Given the description of an element on the screen output the (x, y) to click on. 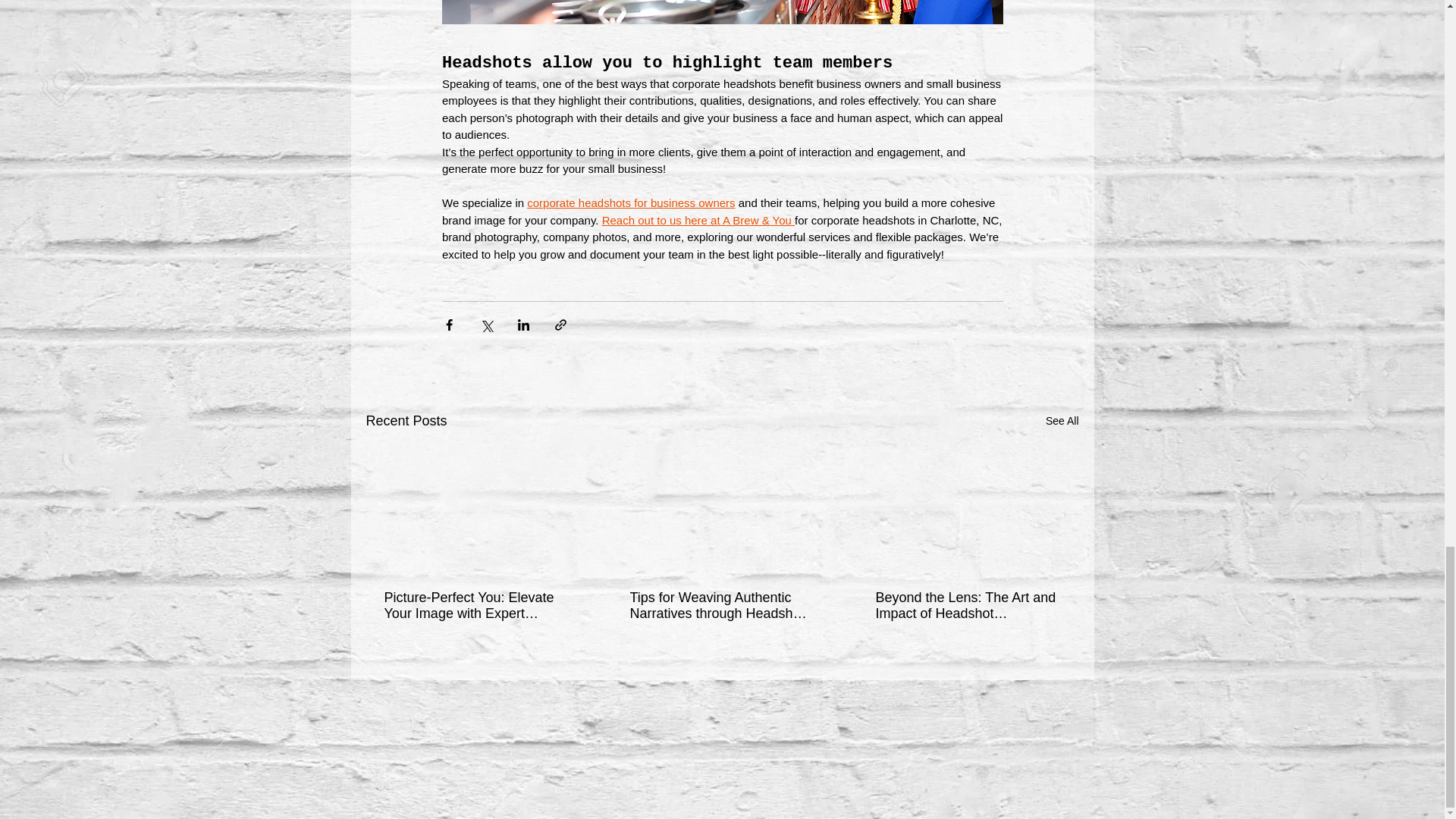
See All (1061, 421)
corporate headshots for business owners (631, 202)
